Given the description of an element on the screen output the (x, y) to click on. 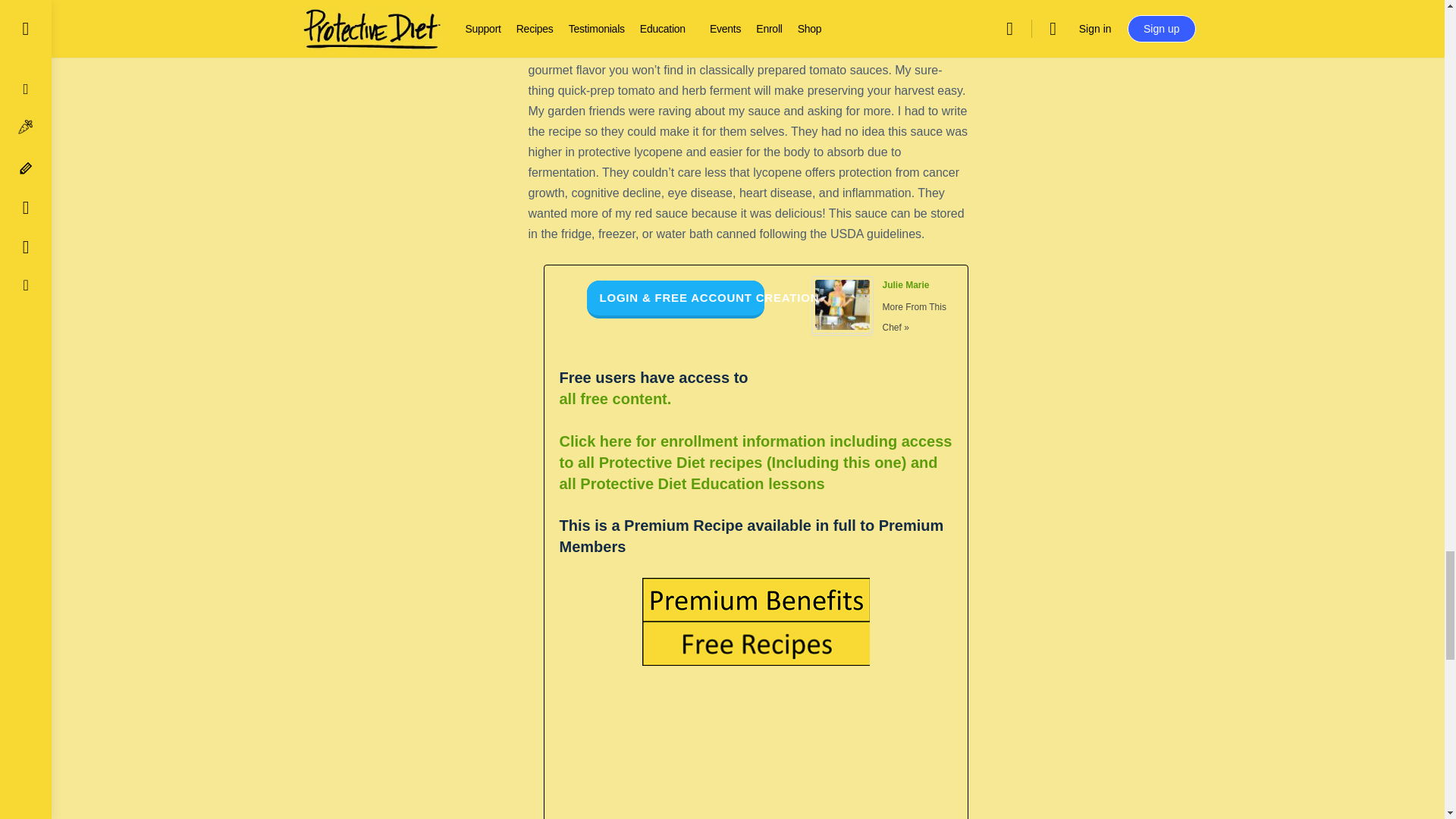
Posts by Julie Marie (906, 285)
Enrollment Information (755, 462)
Free Content (653, 409)
PH Meter (958, 29)
